Given the description of an element on the screen output the (x, y) to click on. 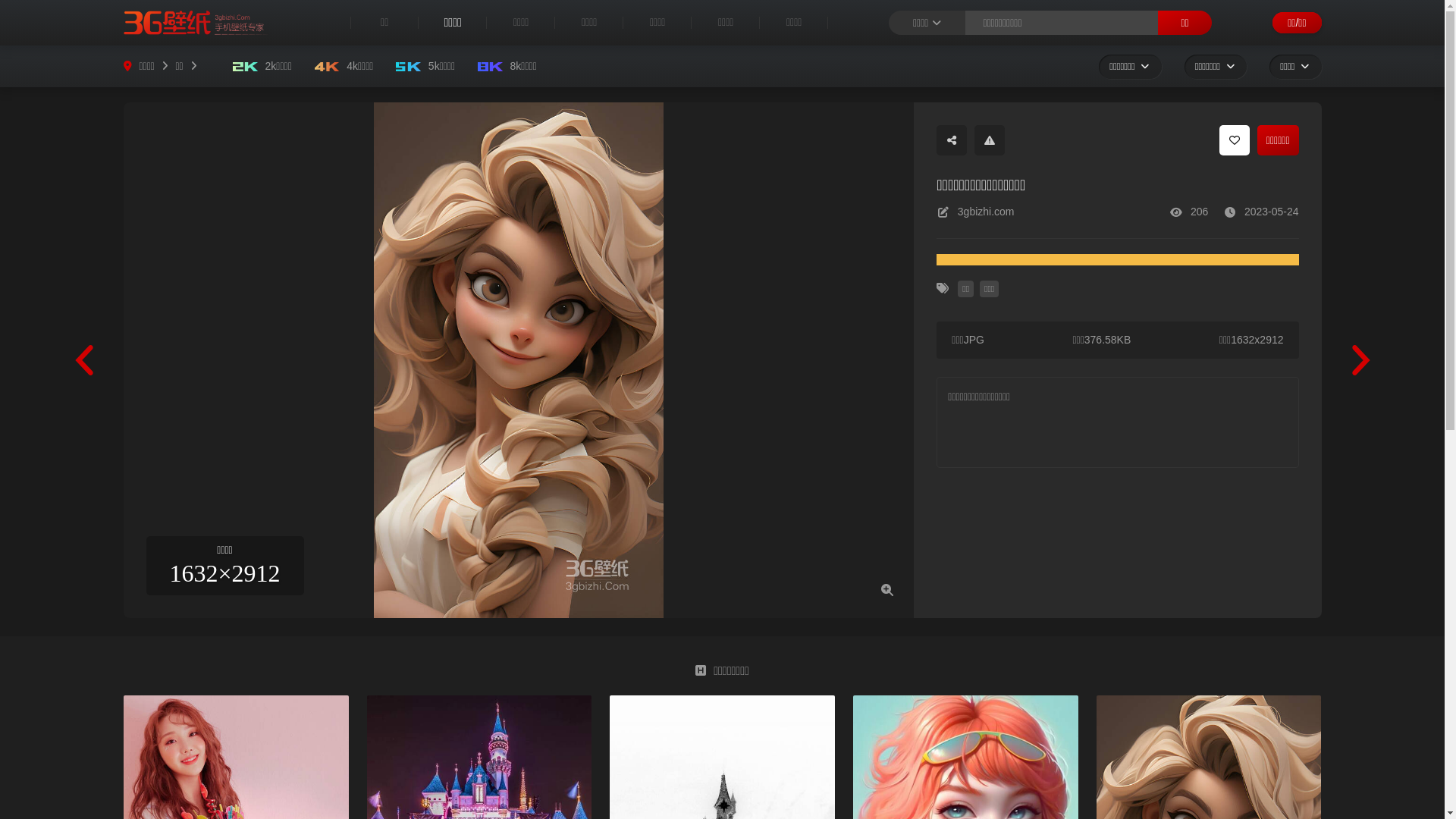
3gbizhi.com Element type: text (985, 211)
